Given the description of an element on the screen output the (x, y) to click on. 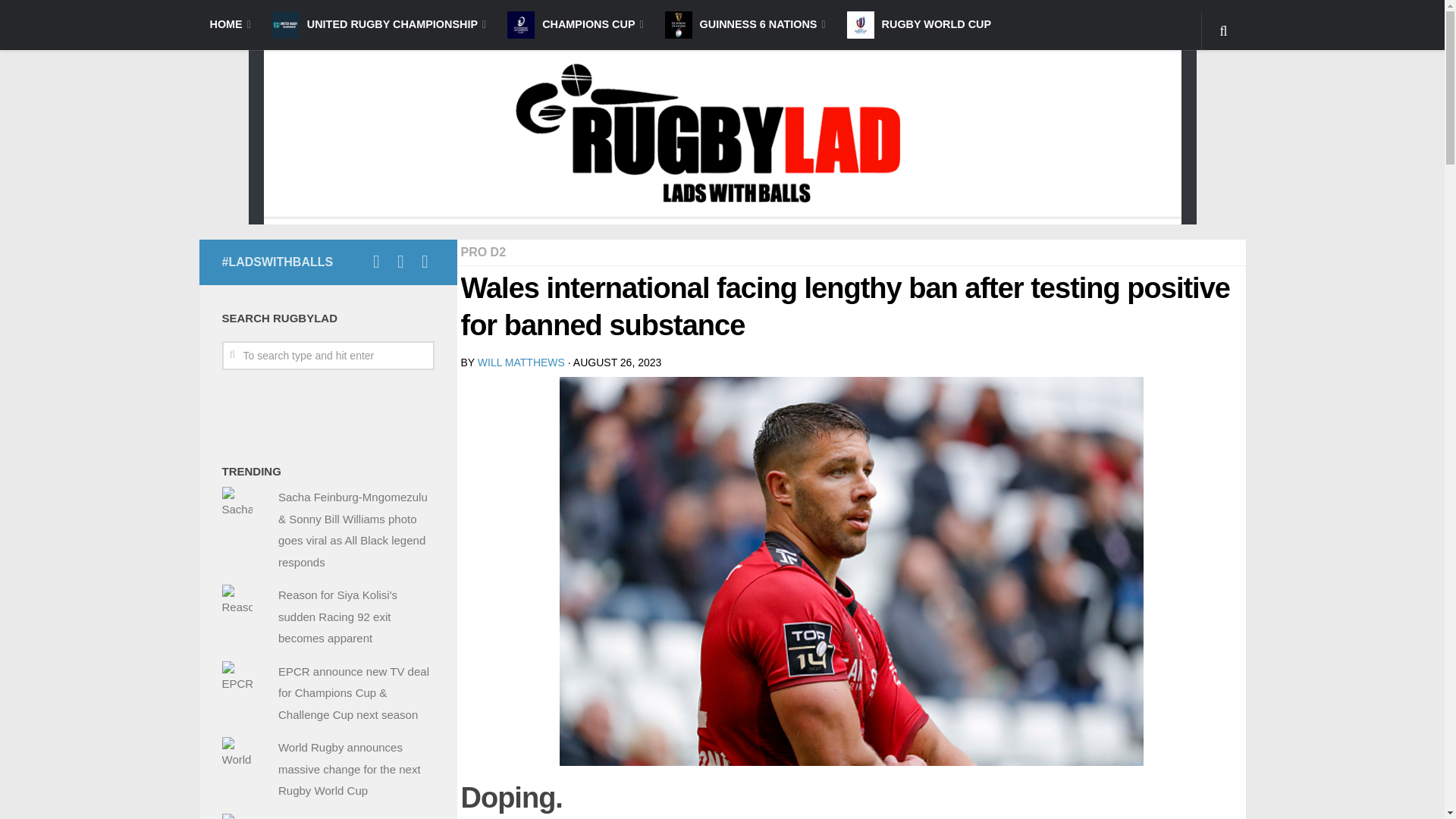
UNITED RUGBY CHAMPIONSHIP (379, 24)
Posts by Will Matthews (520, 362)
To search type and hit enter (327, 355)
WILL MATTHEWS (520, 362)
HOME (229, 23)
To search type and hit enter (327, 355)
Follow us on Twitter (423, 260)
Follow us on Instagram (400, 260)
Like us on Facebook (375, 260)
PRO D2 (483, 251)
